Given the description of an element on the screen output the (x, y) to click on. 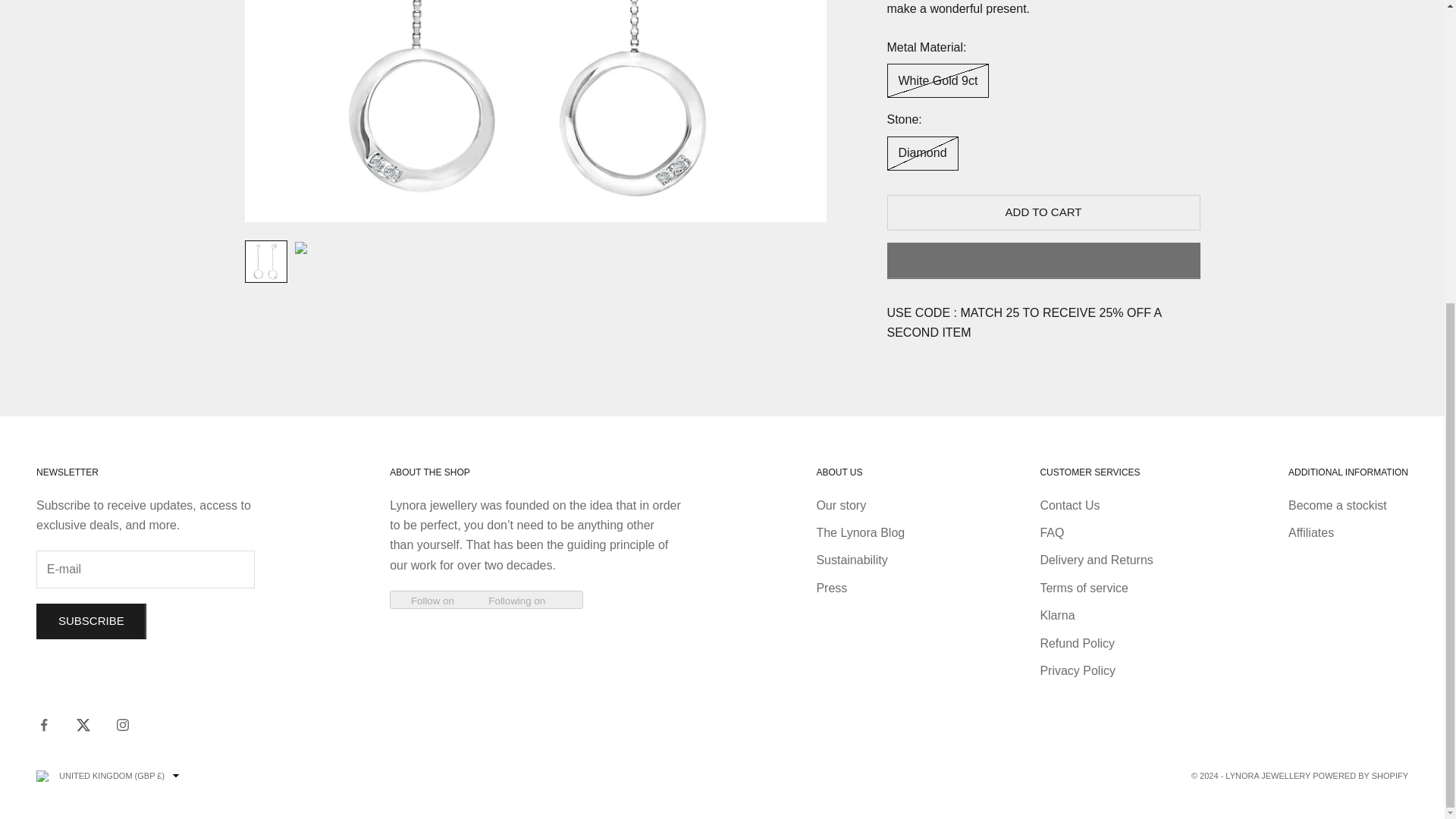
Press (831, 587)
Contact Us (1069, 504)
Become a stockist (1337, 504)
Our story (840, 504)
Terms of service (1082, 587)
Delivery and Returns (1096, 559)
Privacy Policy (1077, 670)
Affiliates (1310, 532)
Sustainability (850, 559)
ADD TO CART (1042, 76)
SUBSCRIBE (91, 621)
Refund Policy (1077, 643)
Klarna (1056, 615)
